Given the description of an element on the screen output the (x, y) to click on. 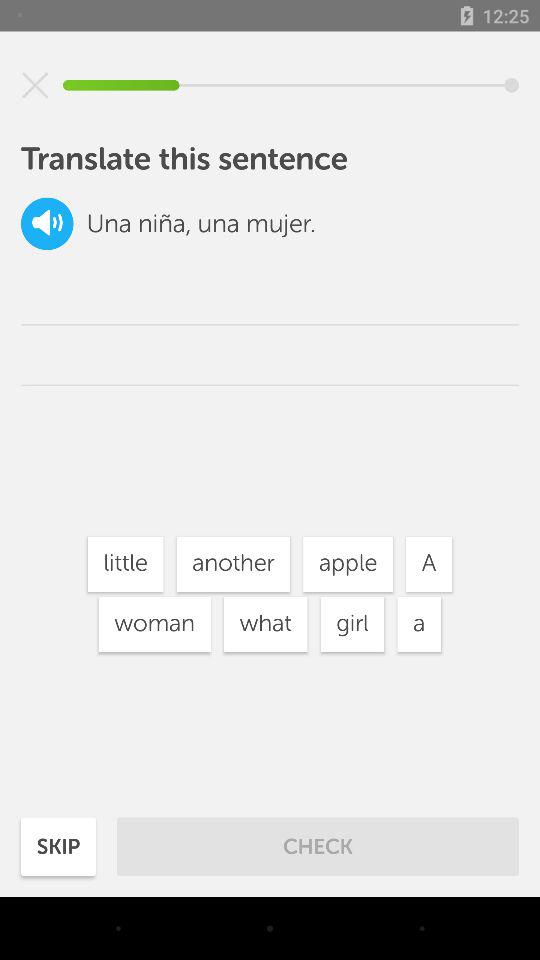
listen (47, 223)
